Given the description of an element on the screen output the (x, y) to click on. 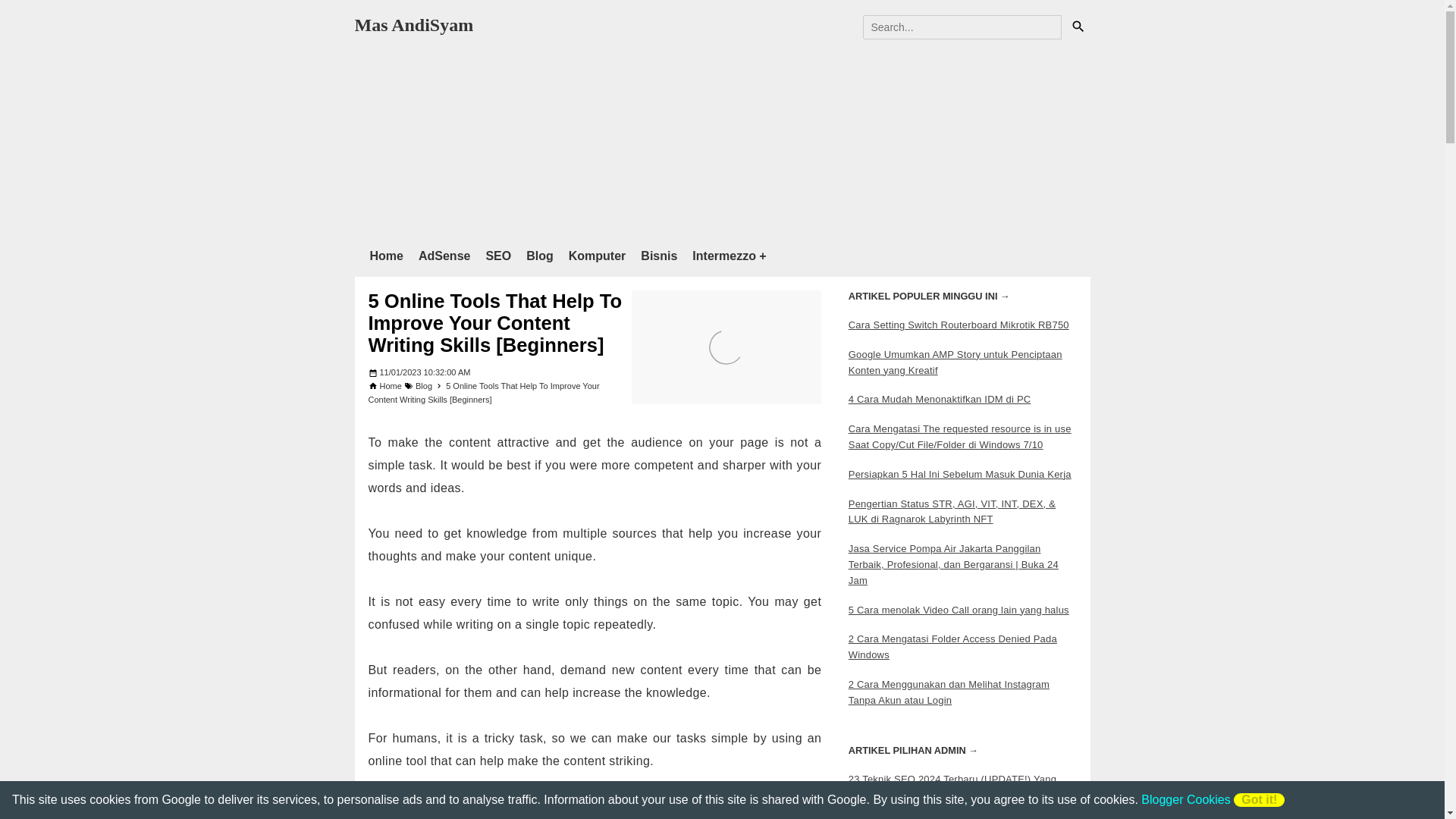
Home (394, 255)
4 Cara Mudah Menonaktifkan IDM di PC (939, 398)
Intermezzo (736, 255)
Cara Setting Switch Routerboard Mikrotik RB750 (958, 324)
Blog (547, 255)
2 Cara Mengatasi Folder Access Denied Pada Windows (952, 646)
Komputer (605, 255)
0 (1077, 26)
Persiapkan 5 Hal Ini Sebelum Masuk Dunia Kerja (959, 473)
Home (390, 385)
